Given the description of an element on the screen output the (x, y) to click on. 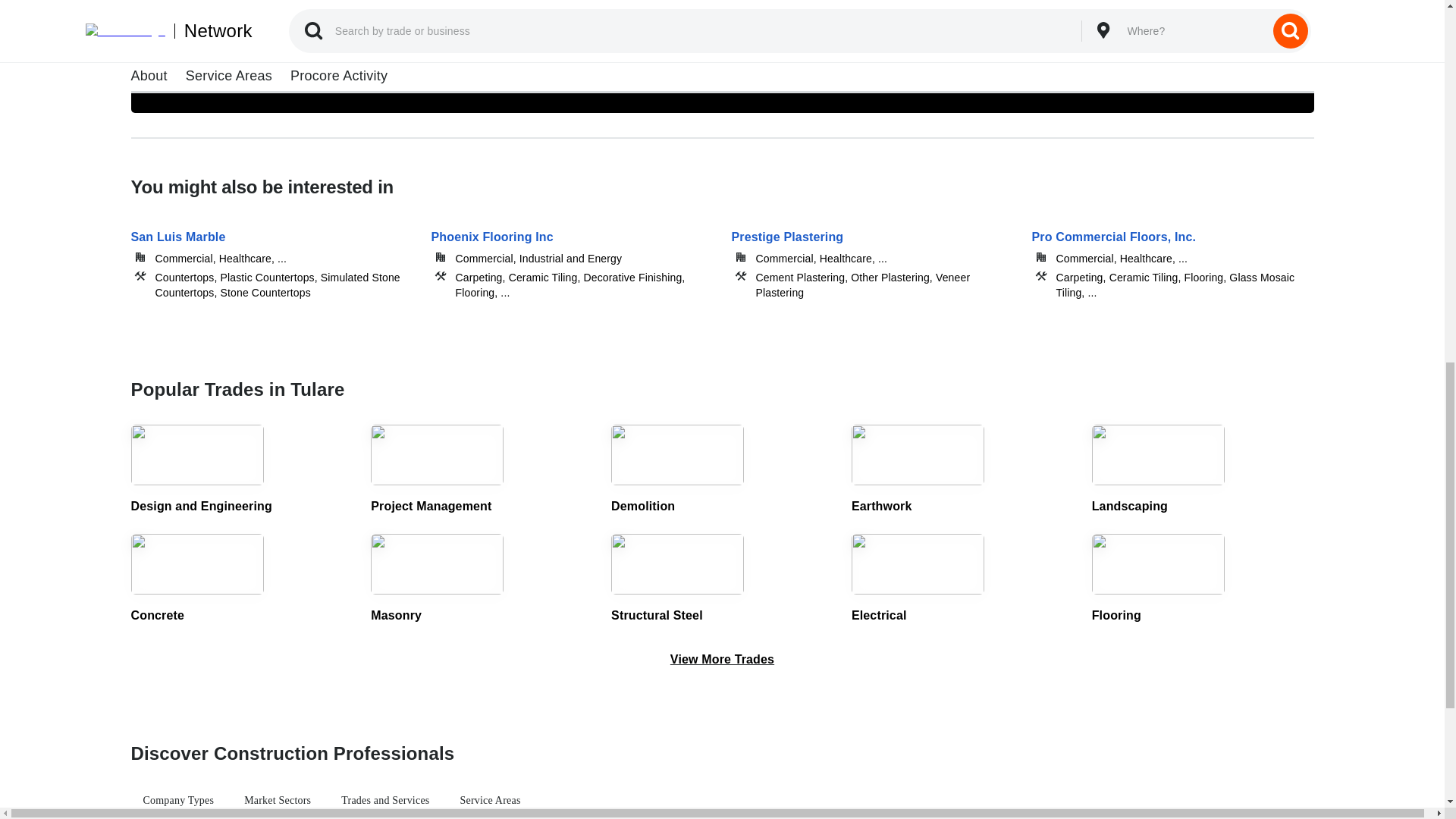
Market Sectors (277, 800)
Landscaping (1203, 470)
View More Trades (722, 659)
Learn more (212, 73)
San Luis Marble (271, 252)
Flooring (1203, 578)
Design and Engineering (241, 470)
Demolition (721, 470)
Project Management (481, 470)
Electrical (962, 578)
Masonry (481, 578)
Trades and Services (385, 800)
Concrete (241, 578)
Earthwork (962, 470)
